Given the description of an element on the screen output the (x, y) to click on. 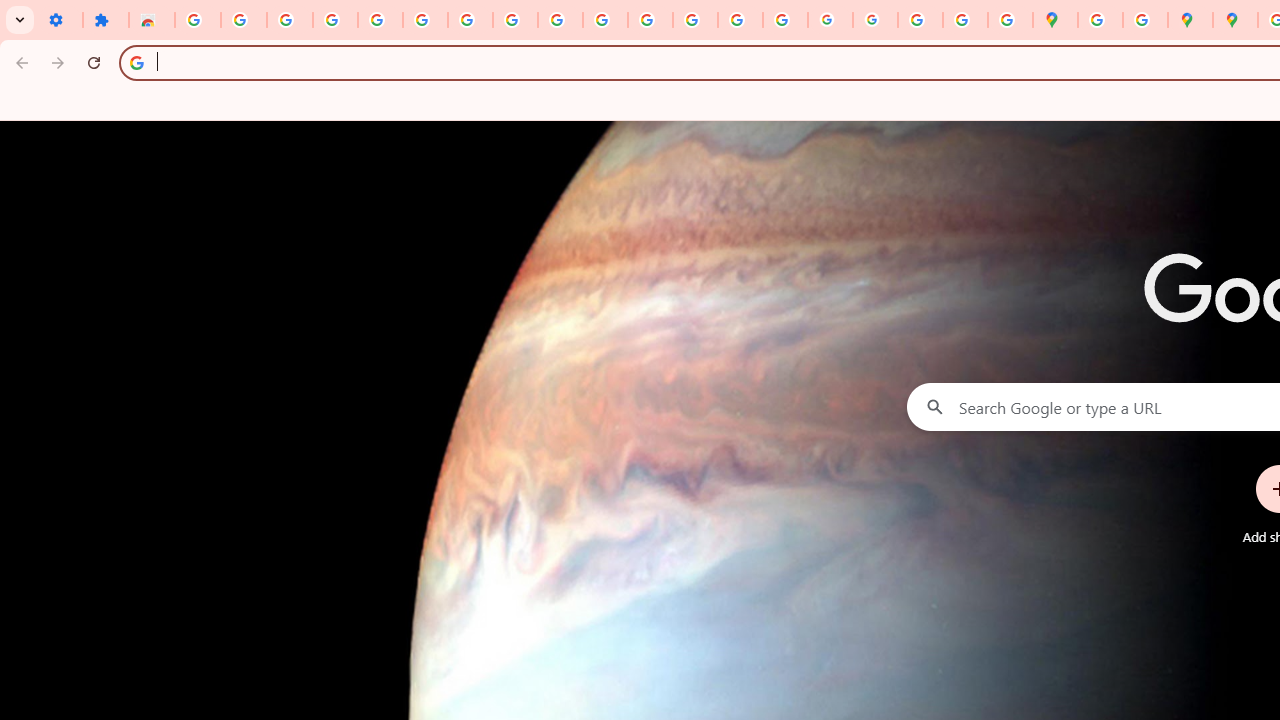
Sign in - Google Accounts (425, 20)
Sign in - Google Accounts (198, 20)
Google Account (514, 20)
Reviews: Helix Fruit Jump Arcade Game (152, 20)
https://scholar.google.com/ (650, 20)
